Given the description of an element on the screen output the (x, y) to click on. 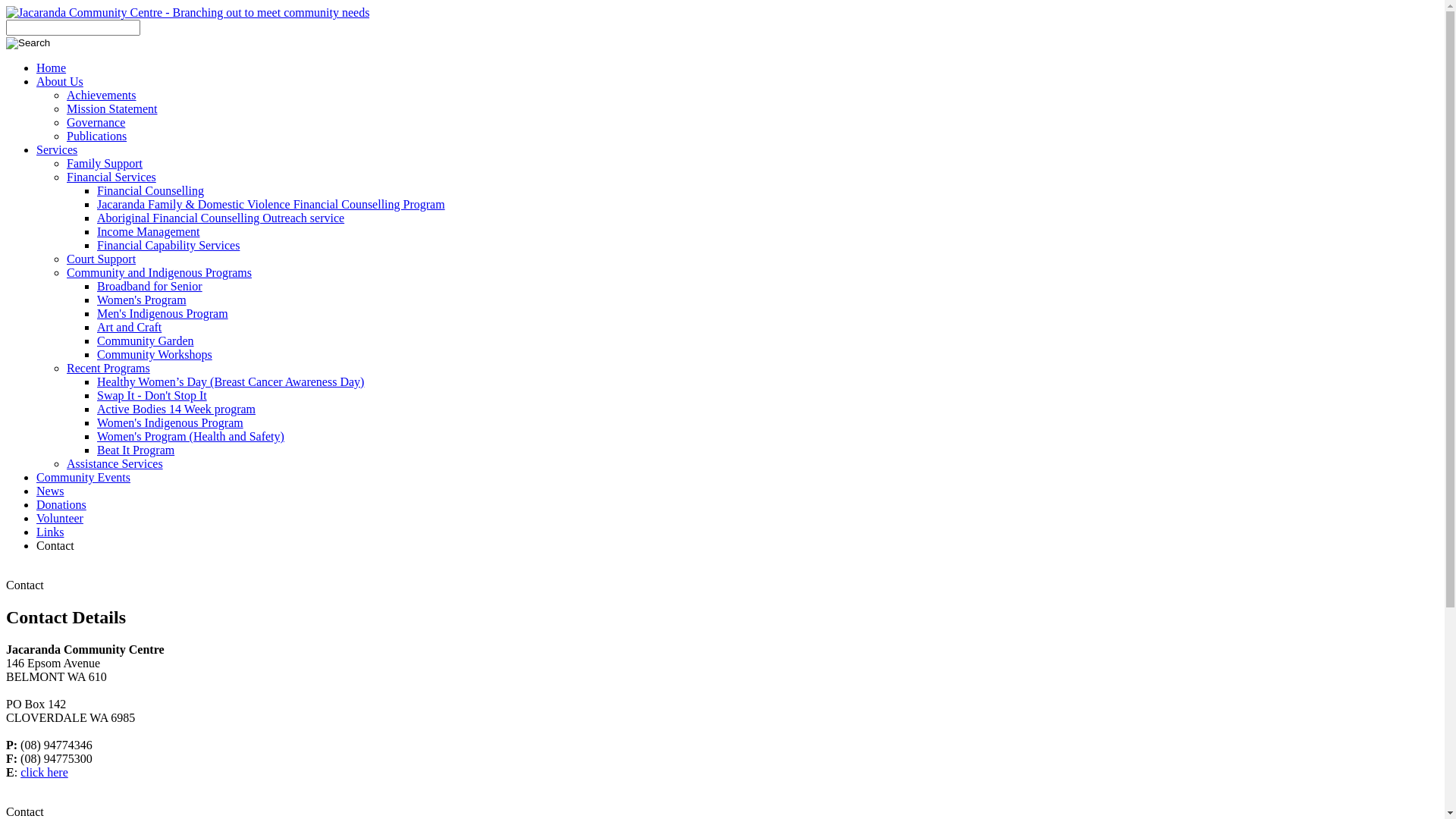
News Element type: text (49, 490)
Community Garden Element type: text (145, 340)
Links Element type: text (49, 531)
Community Events Element type: text (83, 476)
Active Bodies 14 Week program Element type: text (176, 408)
Financial Counselling Element type: text (150, 190)
Volunteer Element type: text (59, 517)
Financial Capability Services Element type: text (168, 244)
Women's Program Element type: text (141, 299)
Publications Element type: text (96, 135)
click here Element type: text (44, 771)
Court Support Element type: text (100, 258)
Mission Statement Element type: text (111, 108)
Family Support Element type: text (104, 162)
Financial Services Element type: text (111, 176)
Recent Programs Element type: text (108, 367)
Beat It Program Element type: text (135, 449)
Women's Indigenous Program Element type: text (170, 422)
Achievements Element type: text (101, 94)
Governance Element type: text (95, 122)
Assistance Services Element type: text (114, 463)
Services Element type: text (56, 149)
Broadband for Senior Element type: text (149, 285)
Donations Element type: text (61, 504)
Swap It - Don't Stop It Element type: text (152, 395)
Home Element type: text (50, 67)
Art and Craft Element type: text (129, 326)
Income Management Element type: text (148, 231)
Aboriginal Financial Counselling Outreach service Element type: text (220, 217)
Men's Indigenous Program Element type: text (162, 313)
About Us Element type: text (59, 81)
Community and Indigenous Programs Element type: text (158, 272)
Women's Program (Health and Safety) Element type: text (190, 435)
Community Workshops Element type: text (154, 354)
